Given the description of an element on the screen output the (x, y) to click on. 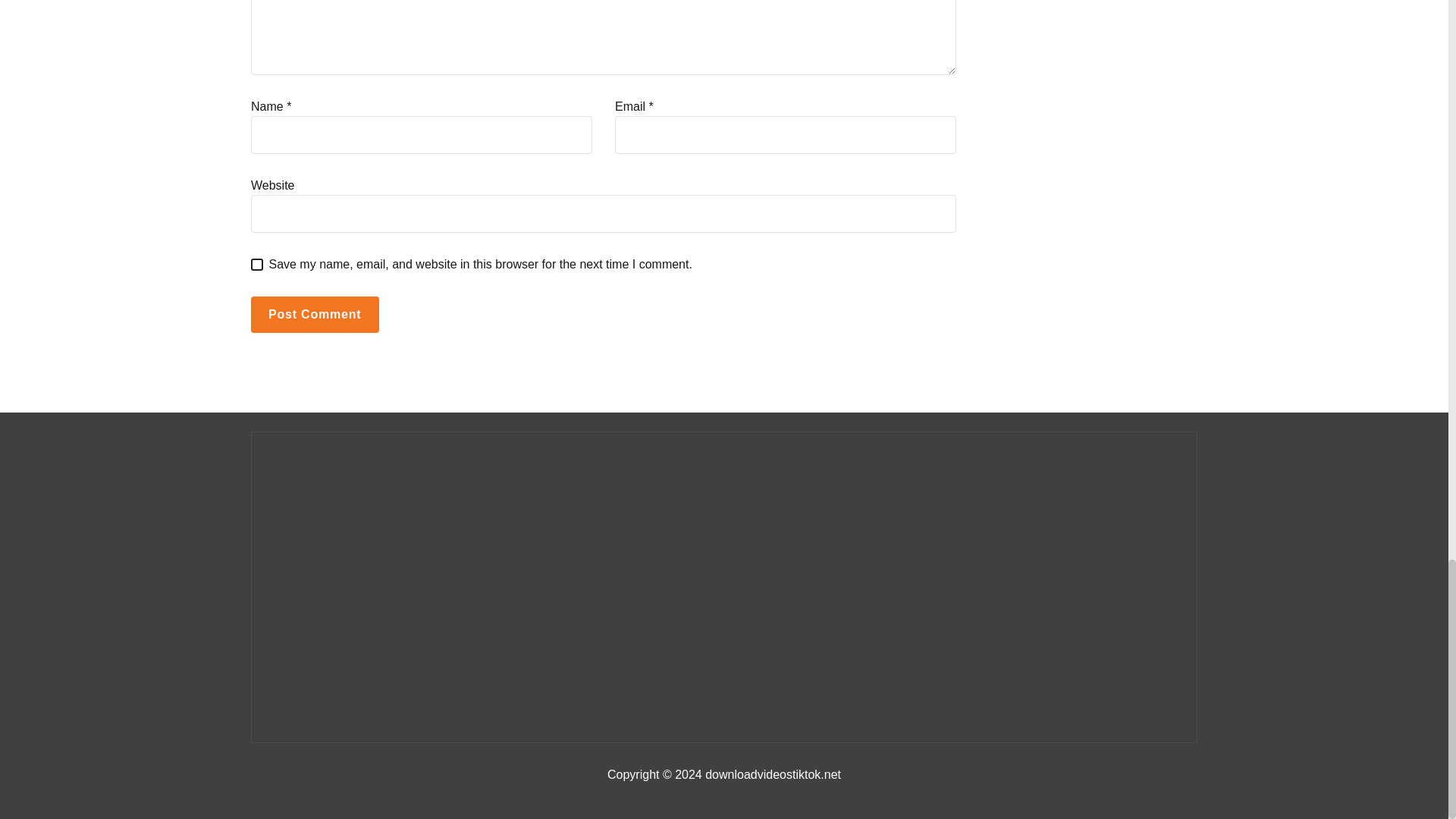
yes (256, 264)
Post Comment (314, 314)
Post Comment (314, 314)
